Given the description of an element on the screen output the (x, y) to click on. 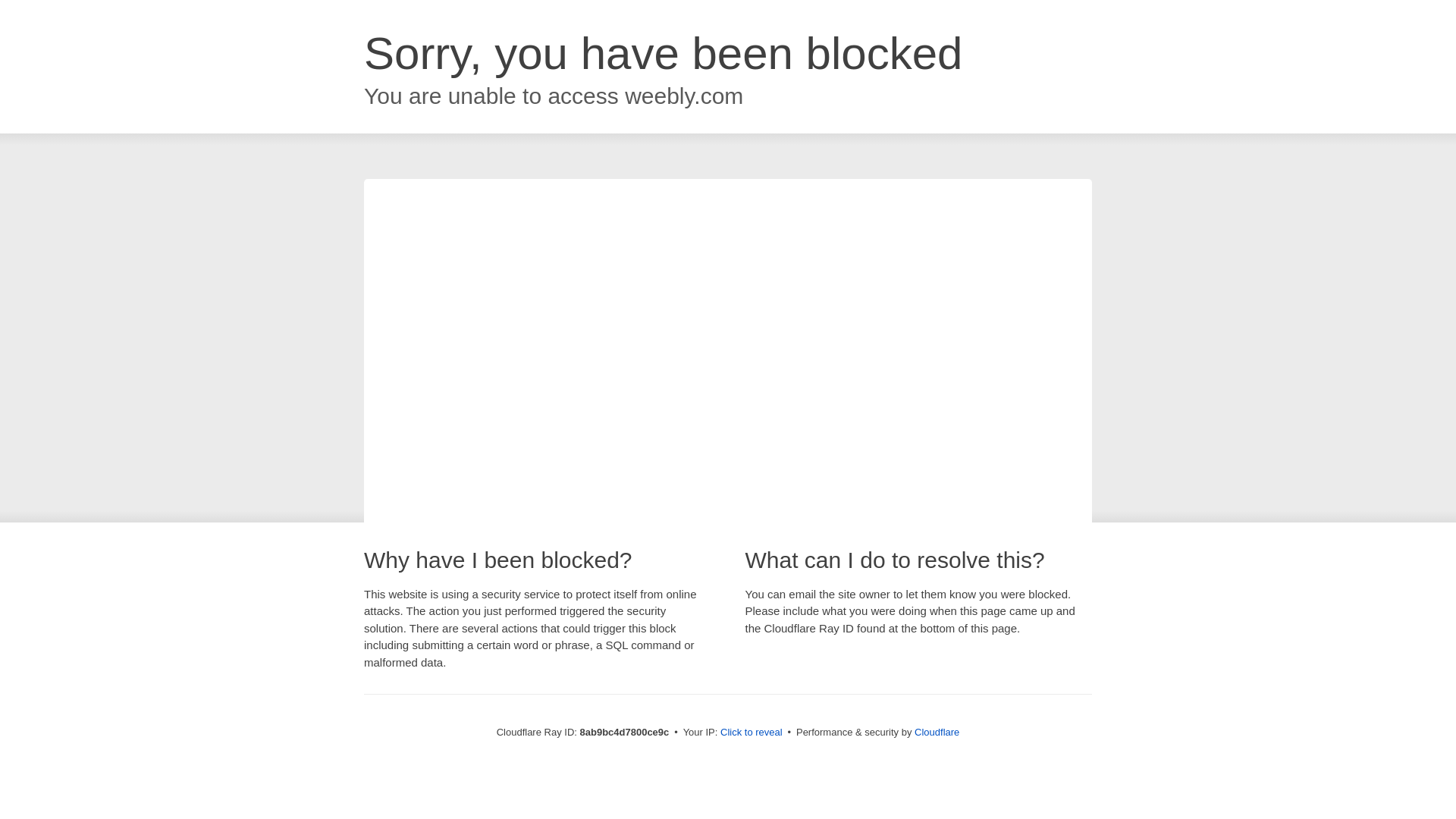
Cloudflare (936, 731)
Click to reveal (751, 732)
